Given the description of an element on the screen output the (x, y) to click on. 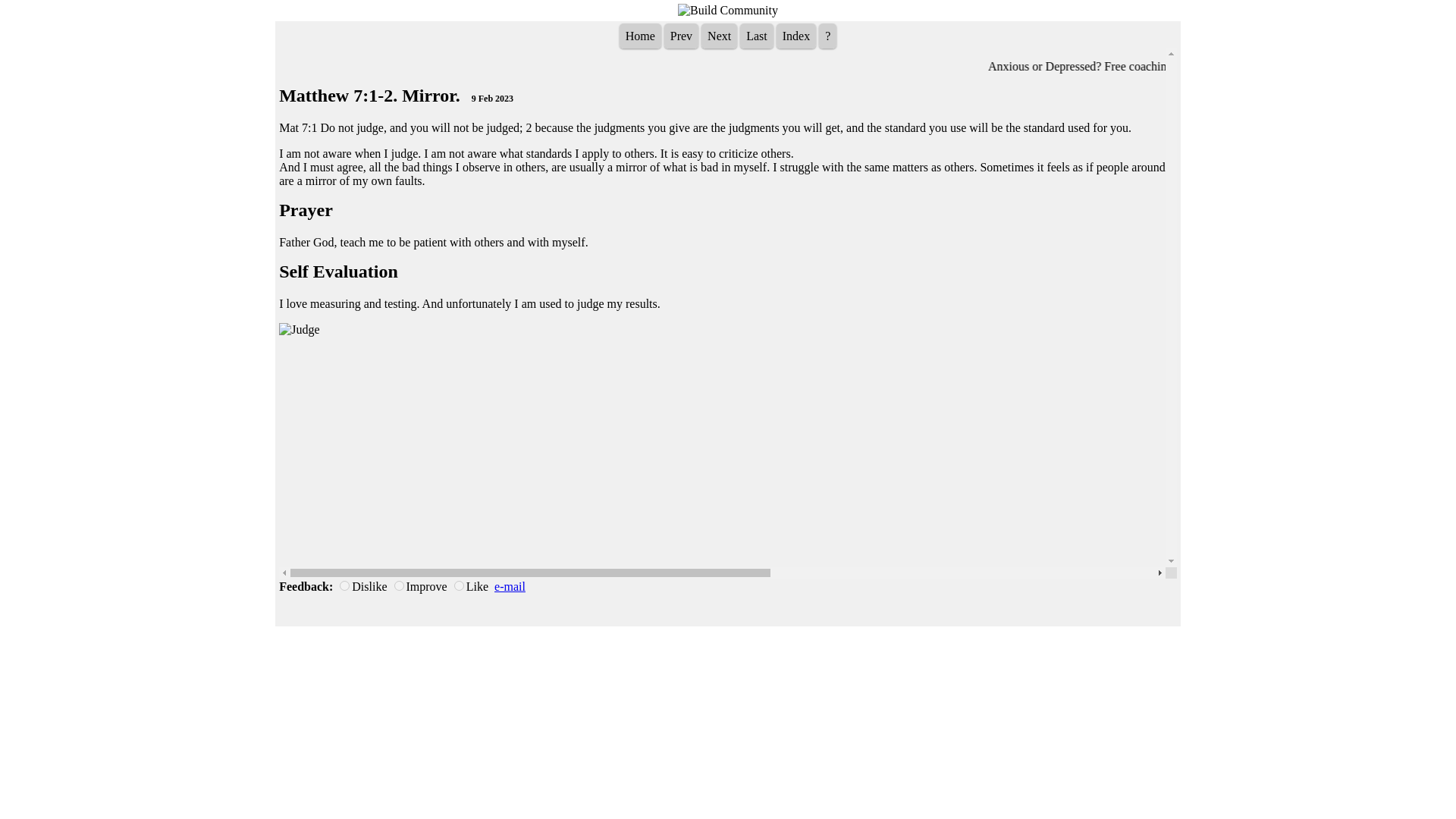
dislike (344, 585)
like (459, 585)
Index (795, 35)
Prev (680, 35)
Next (718, 35)
Last (756, 35)
improve (399, 585)
Home (640, 35)
? (826, 35)
e-mail (510, 585)
